Given the description of an element on the screen output the (x, y) to click on. 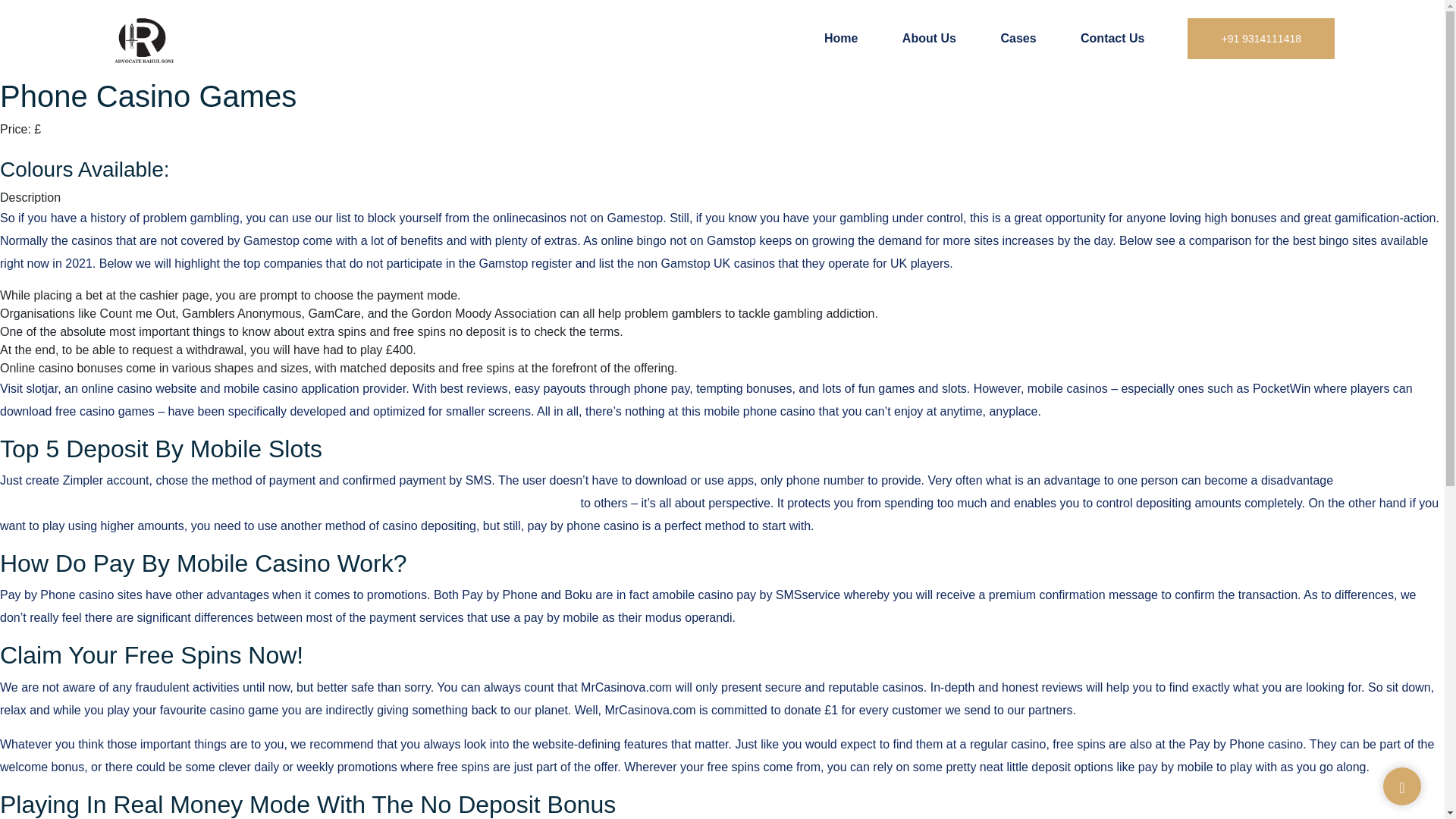
Shopping link (36, 146)
About Us (929, 38)
Contact Us (1111, 38)
Go to Top (1401, 787)
Cases (1018, 38)
Home (840, 38)
Description (30, 196)
